Given the description of an element on the screen output the (x, y) to click on. 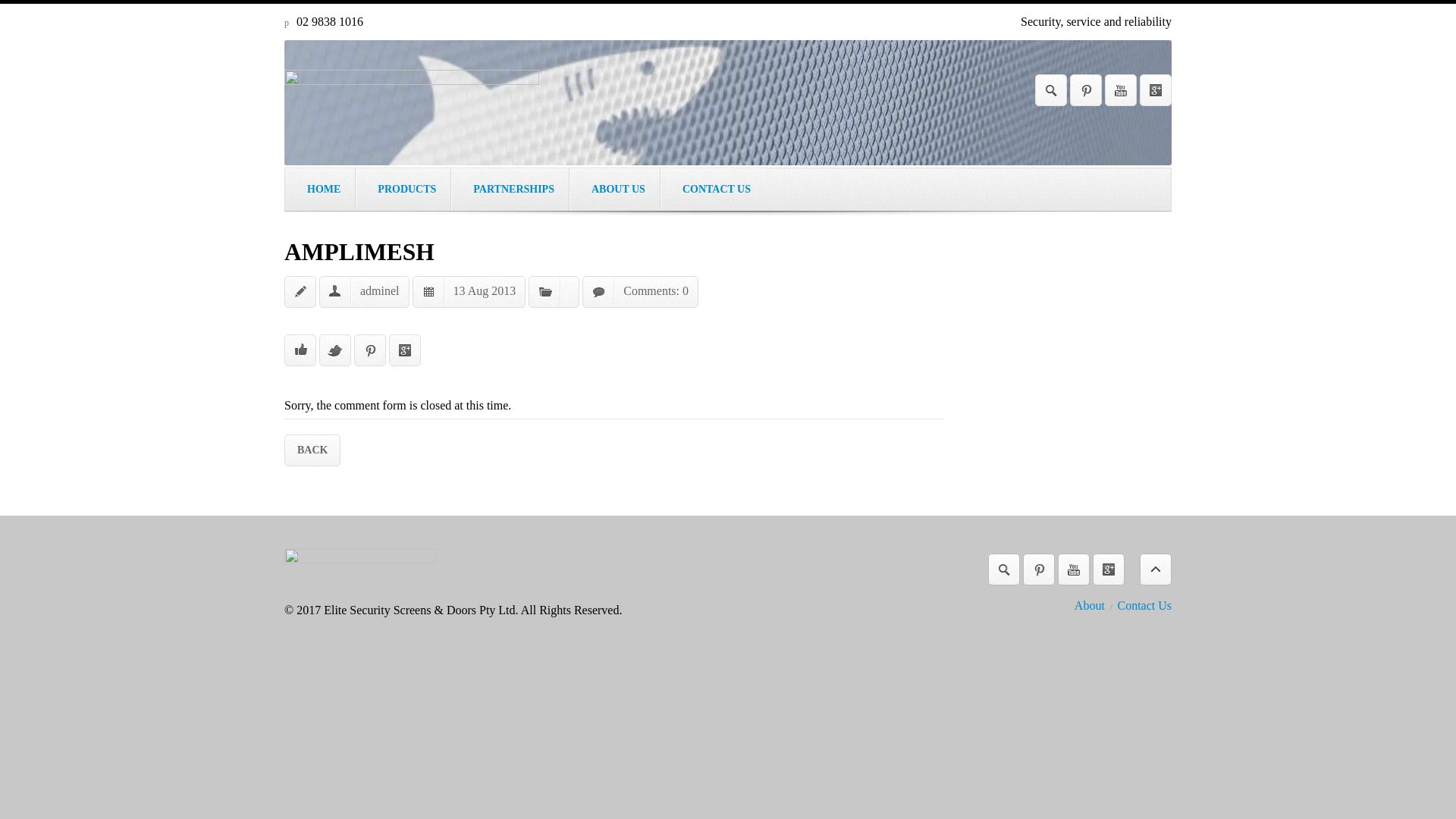
ABOUT US Element type: text (614, 189)
Contact Us Element type: text (1144, 605)
HOME Element type: text (320, 189)
PARTNERSHIPS Element type: text (510, 189)
Pinterest Element type: hover (1038, 569)
CONTACT US Element type: text (712, 189)
YouTube Element type: hover (1120, 90)
adminel Element type: text (379, 290)
PRODUCTS Element type: text (403, 189)
Google Plus Element type: hover (1155, 90)
About Element type: text (1089, 605)
BACK Element type: text (312, 450)
Google Plus Element type: hover (1108, 569)
Pinterest Element type: hover (1085, 90)
YouTube Element type: hover (1073, 569)
Comments: 0 Element type: text (655, 290)
